Given the description of an element on the screen output the (x, y) to click on. 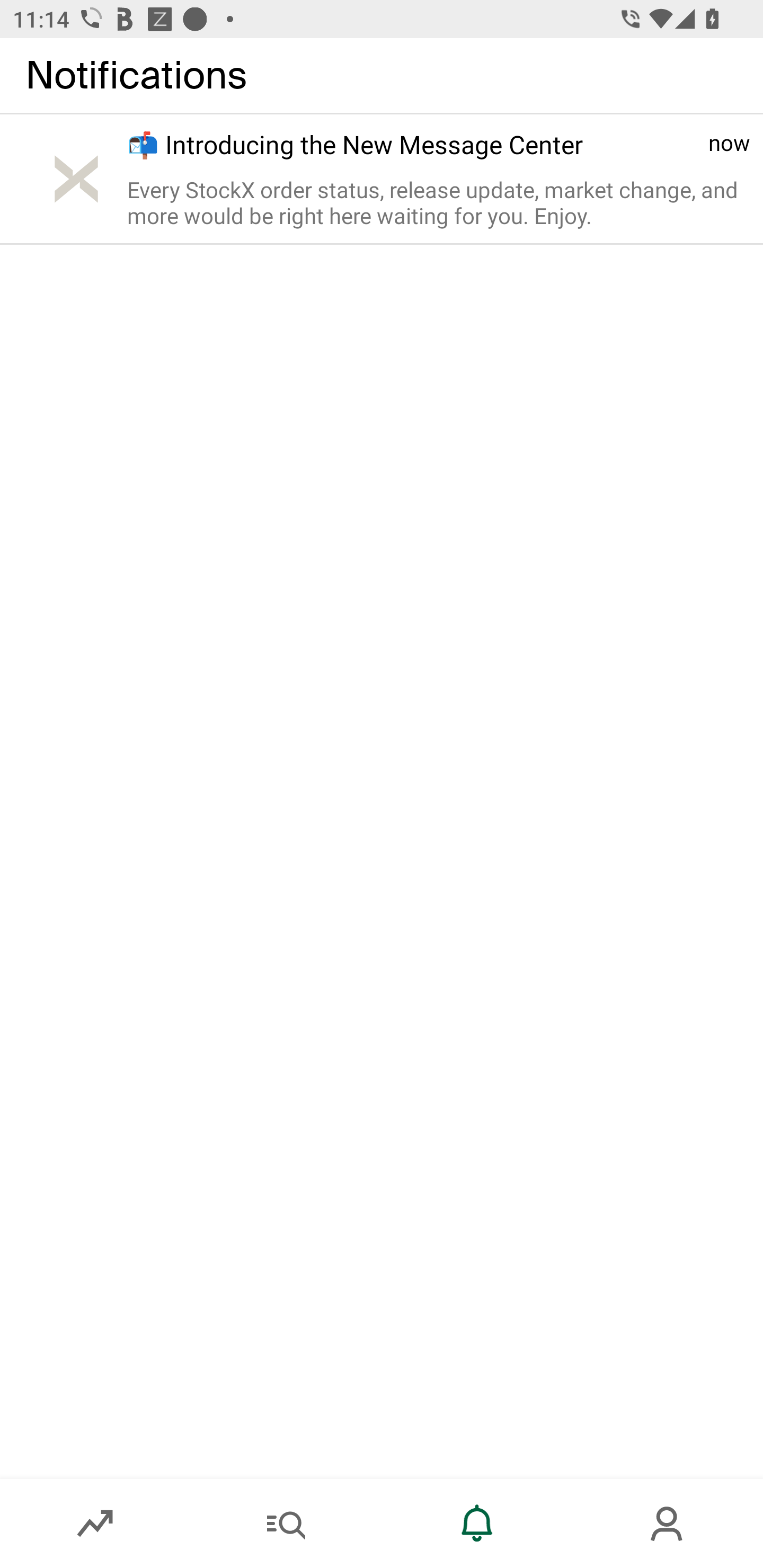
Market (95, 1523)
Search (285, 1523)
Account (667, 1523)
